Given the description of an element on the screen output the (x, y) to click on. 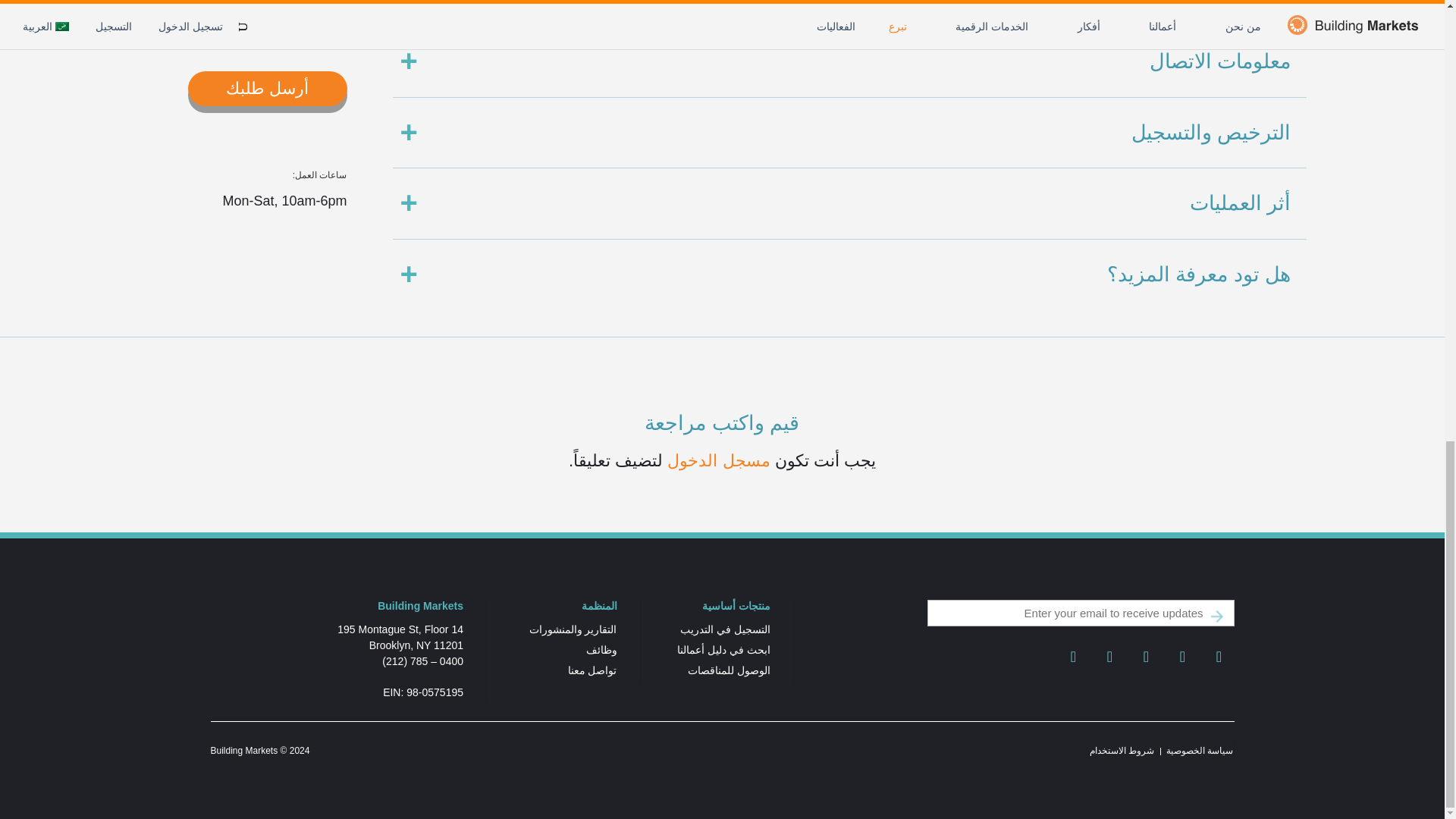
Submit (1216, 616)
